Given the description of an element on the screen output the (x, y) to click on. 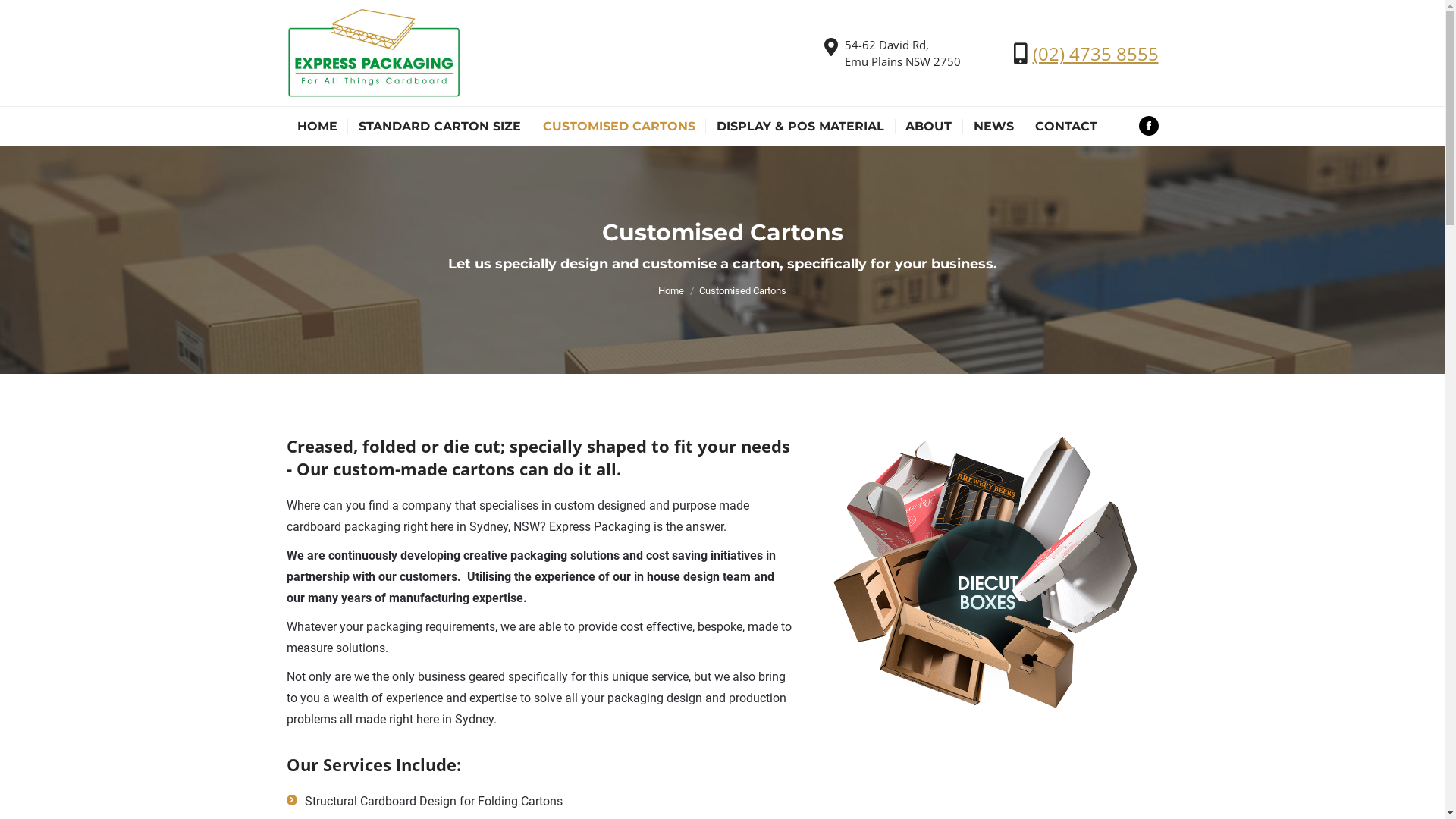
DISPLAY & POS MATERIAL Element type: text (800, 126)
HOME Element type: text (317, 126)
NEWS Element type: text (993, 126)
Home Element type: text (671, 290)
CONTACT Element type: text (1065, 126)
ABOUT Element type: text (928, 126)
STANDARD CARTON SIZE Element type: text (439, 126)
Facebook page opens in new window Element type: text (1148, 124)
5912e0b3c8665a4f7a6c7f43_Diecut Boxes Element type: hover (995, 578)
CUSTOMISED CARTONS Element type: text (618, 126)
(02) 4735 8555 Element type: text (1095, 52)
